Given the description of an element on the screen output the (x, y) to click on. 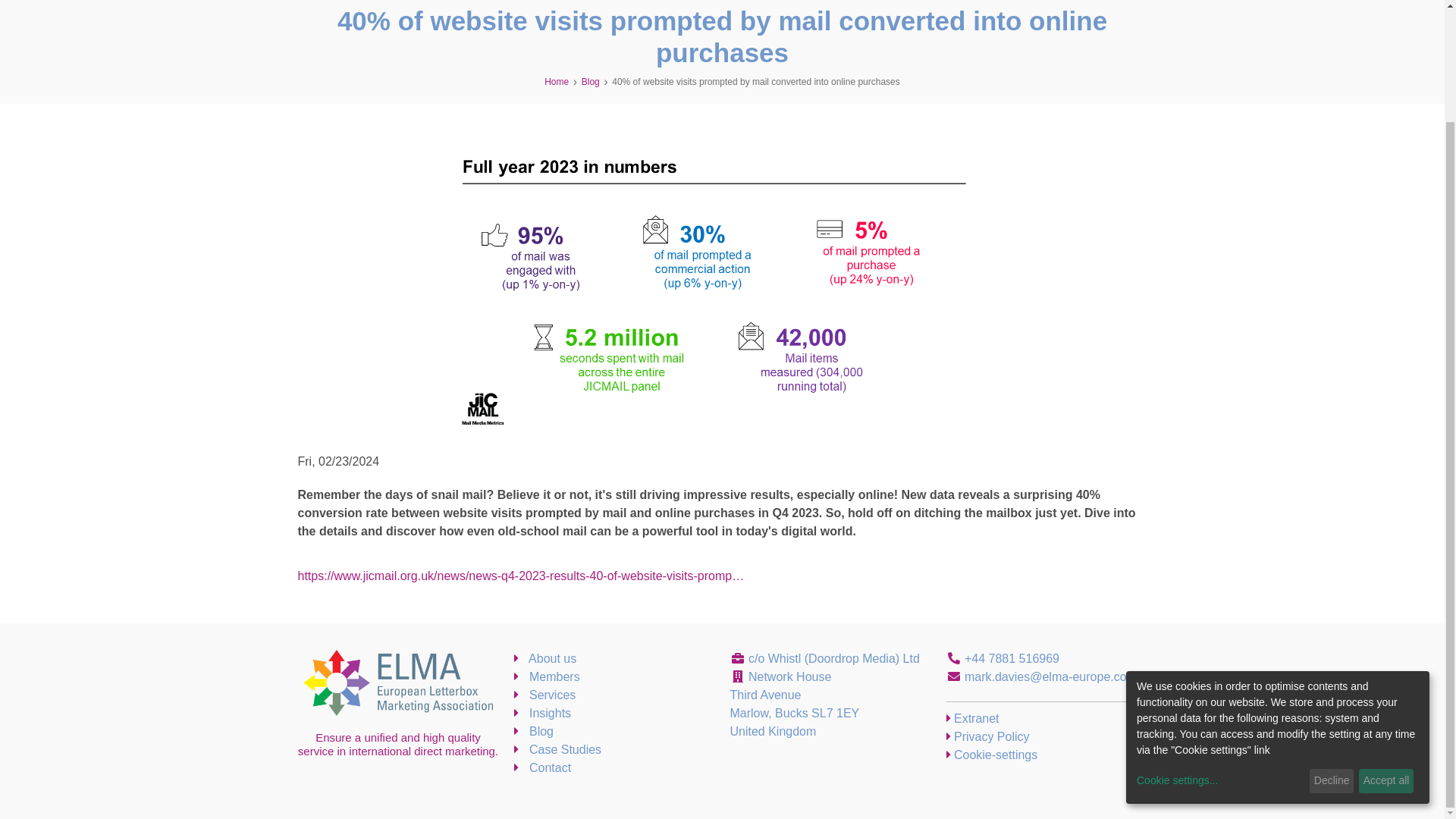
Extranet (972, 717)
Services (544, 694)
Privacy Policy (987, 736)
Insights (542, 712)
Blog (533, 730)
Decline (1331, 648)
Cookie settings... (1220, 648)
Home (556, 81)
Case Studies (557, 748)
Accept all (1385, 648)
Blog (589, 81)
Members (546, 676)
Contact (542, 767)
About us (544, 658)
